Given the description of an element on the screen output the (x, y) to click on. 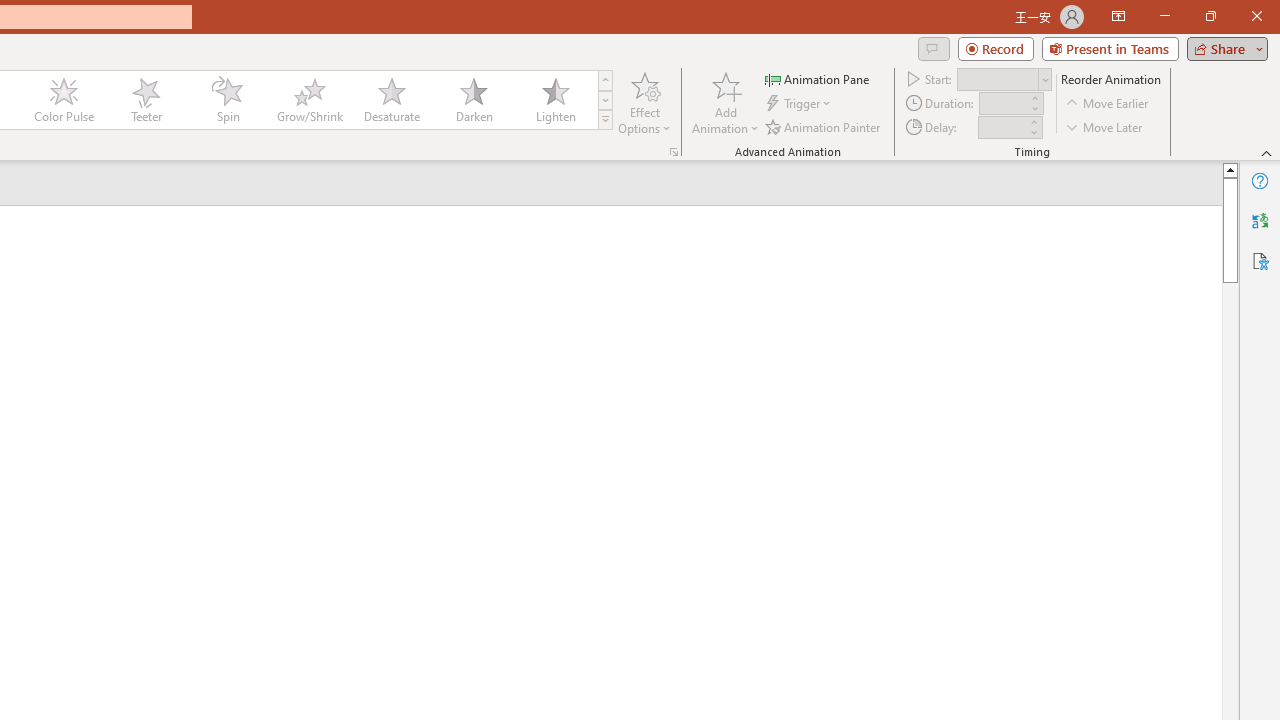
More Options... (673, 151)
Animation Pane (818, 78)
Color Pulse (63, 100)
Effect Options (644, 102)
Move Later (1105, 126)
